Given the description of an element on the screen output the (x, y) to click on. 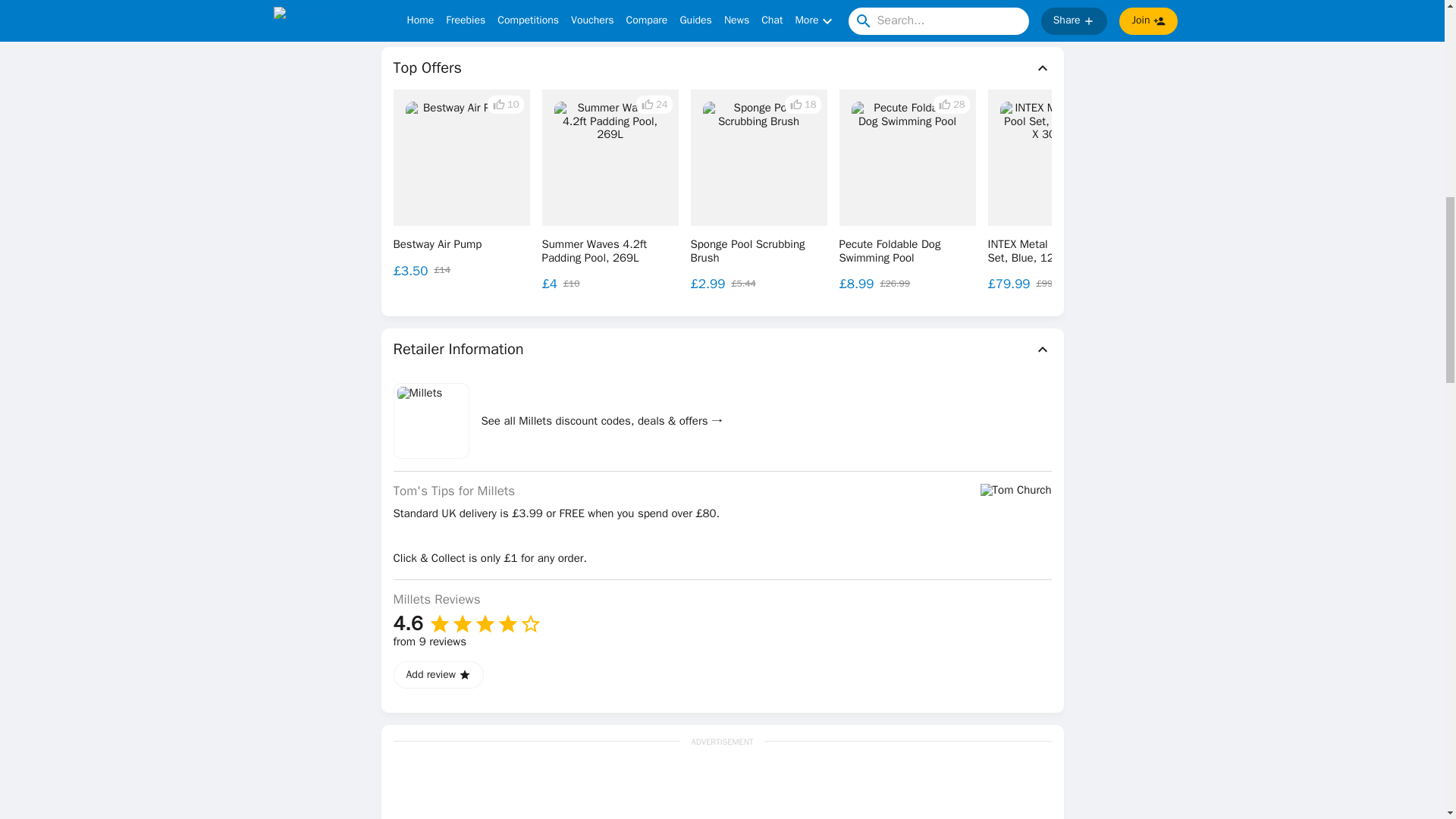
Top Offers (722, 67)
See more offers (1329, 190)
Bestway (455, 5)
pool (409, 5)
Retailer Information (722, 349)
